Given the description of an element on the screen output the (x, y) to click on. 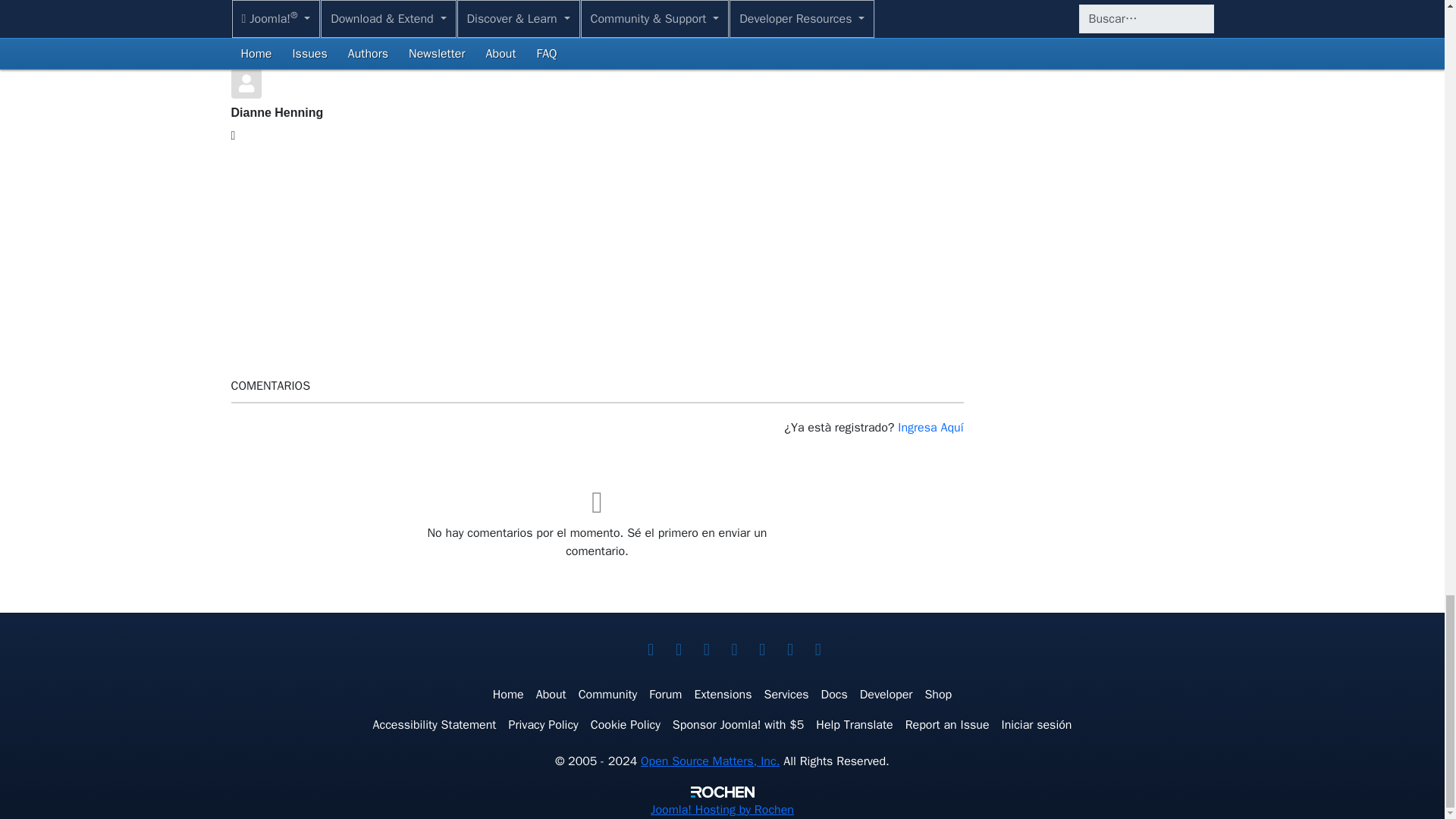
Joomla! on Twitter (650, 649)
Joomla! on Pinterest (761, 649)
Joomla! on LinkedIn (733, 649)
Joomla! on YouTube (706, 649)
Joomla! on Instagram (789, 649)
Joomla! on GitHub (817, 649)
Joomla! on Facebook (678, 649)
